Given the description of an element on the screen output the (x, y) to click on. 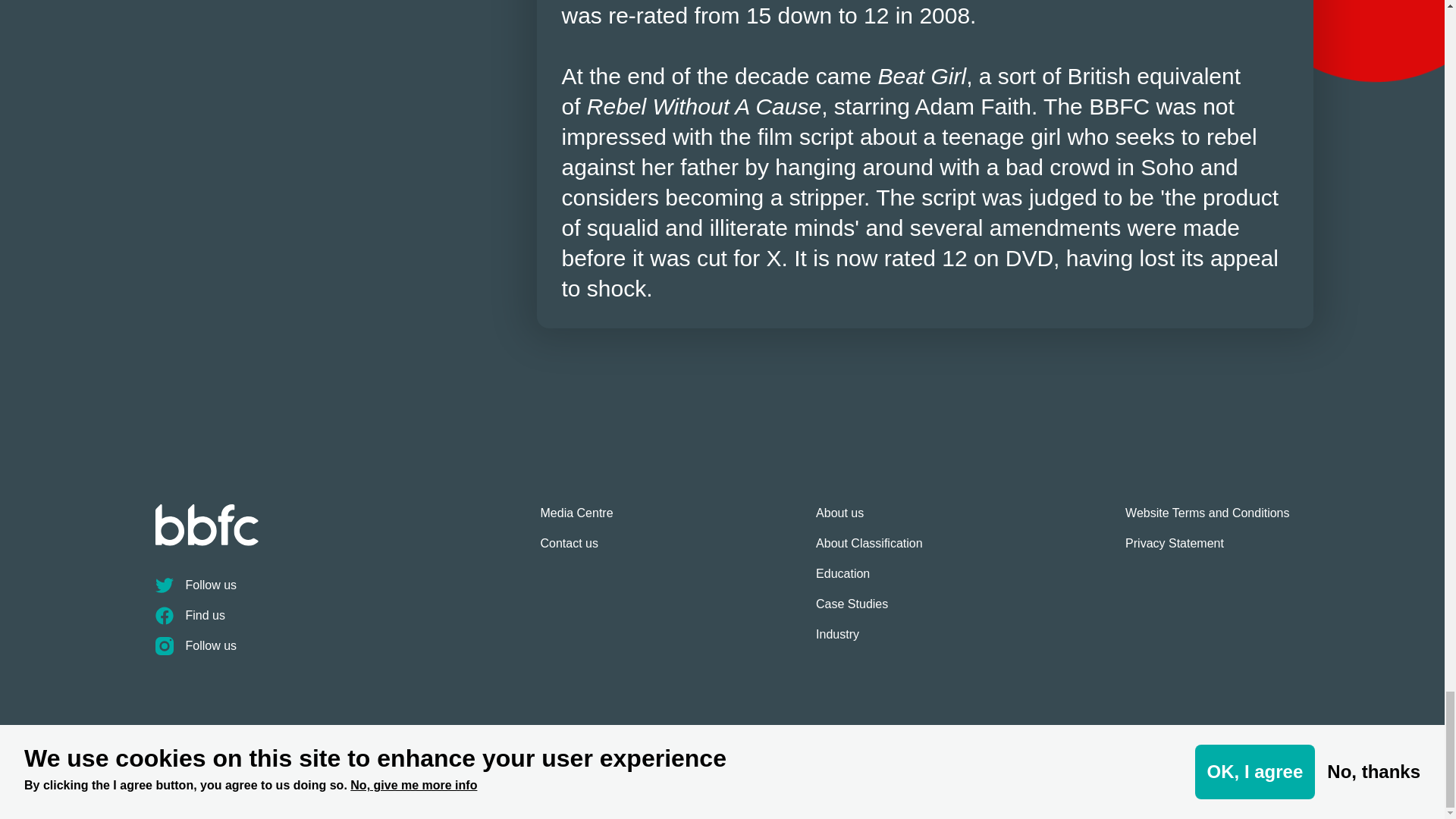
About Classification (869, 549)
Follow us (347, 652)
Education (869, 580)
Industry (869, 640)
Media Centre (576, 519)
Contact us (576, 549)
Privacy Statement (1206, 549)
Follow us (347, 591)
Find us (347, 621)
Case Studies (869, 610)
